Given the description of an element on the screen output the (x, y) to click on. 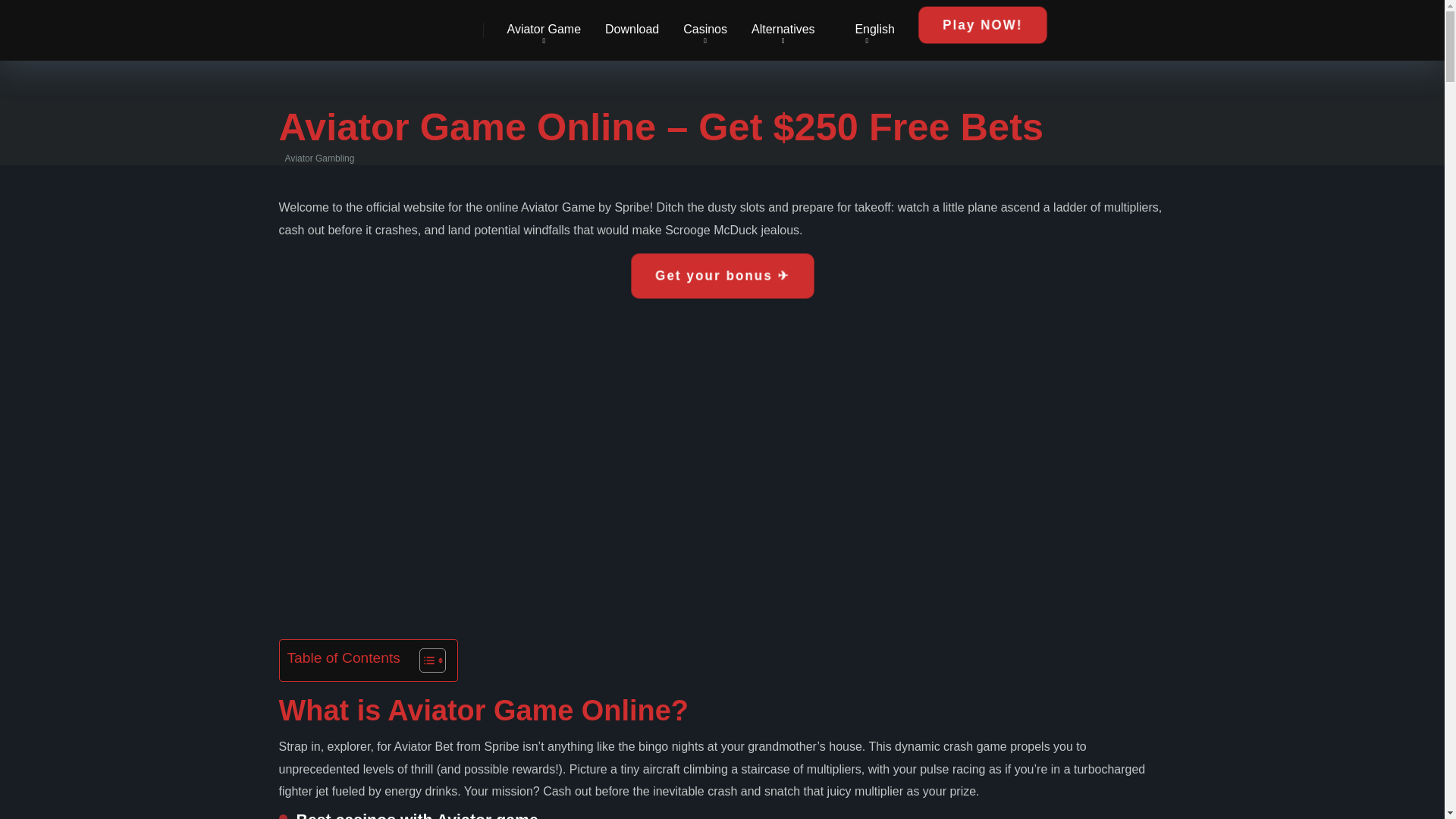
Aviator Game (543, 30)
Download (631, 30)
Alternatives (783, 30)
Casinos (705, 30)
English (867, 30)
Aviator Gambling (308, 24)
